Given the description of an element on the screen output the (x, y) to click on. 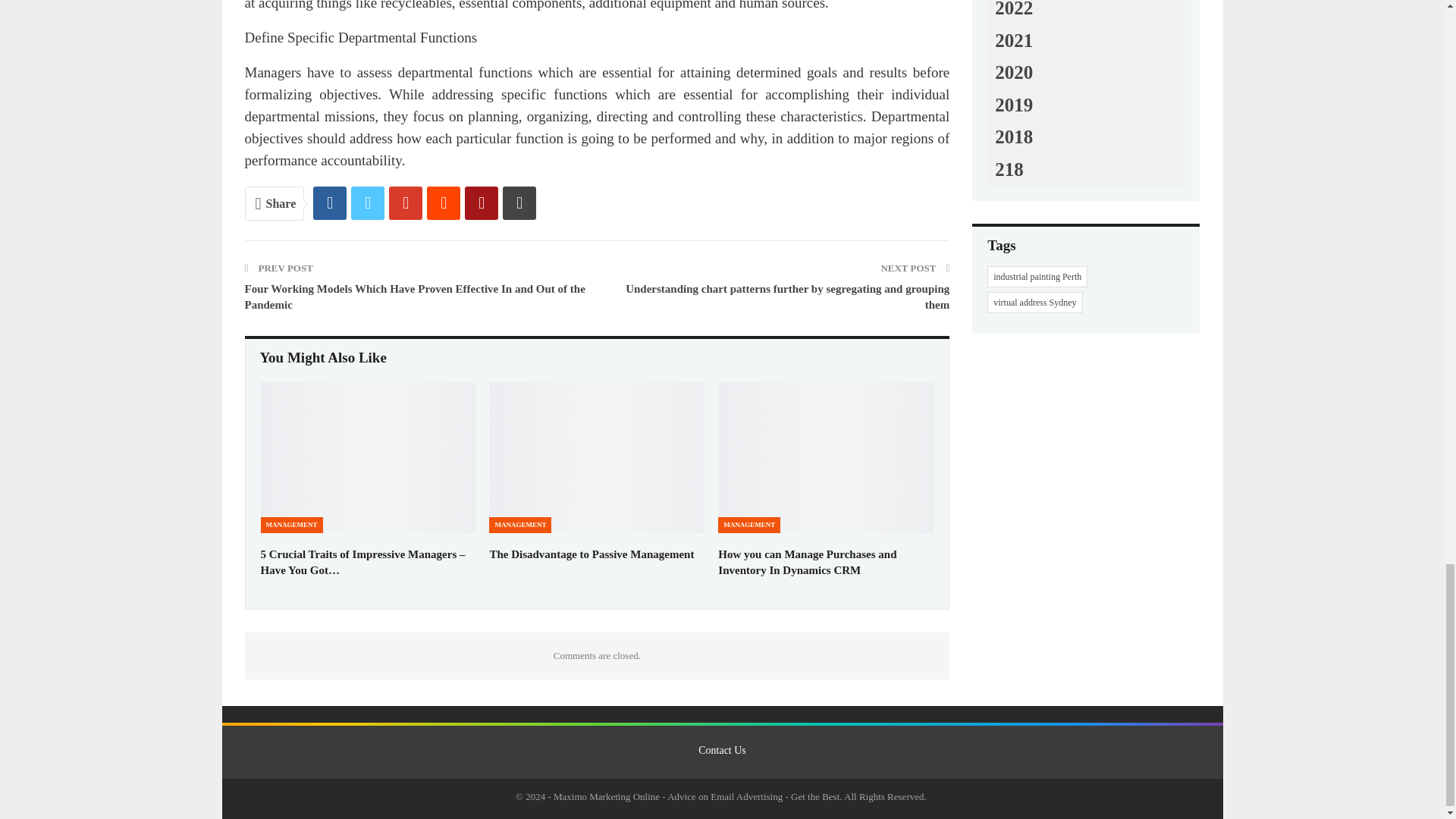
MANAGEMENT (291, 524)
The Disadvantage to Passive Management (591, 553)
MANAGEMENT (520, 524)
How you can Manage Purchases and Inventory In Dynamics CRM (806, 561)
How you can Manage Purchases and Inventory In Dynamics CRM (825, 457)
The Disadvantage to Passive Management (596, 457)
You Might Also Like (322, 358)
